Given the description of an element on the screen output the (x, y) to click on. 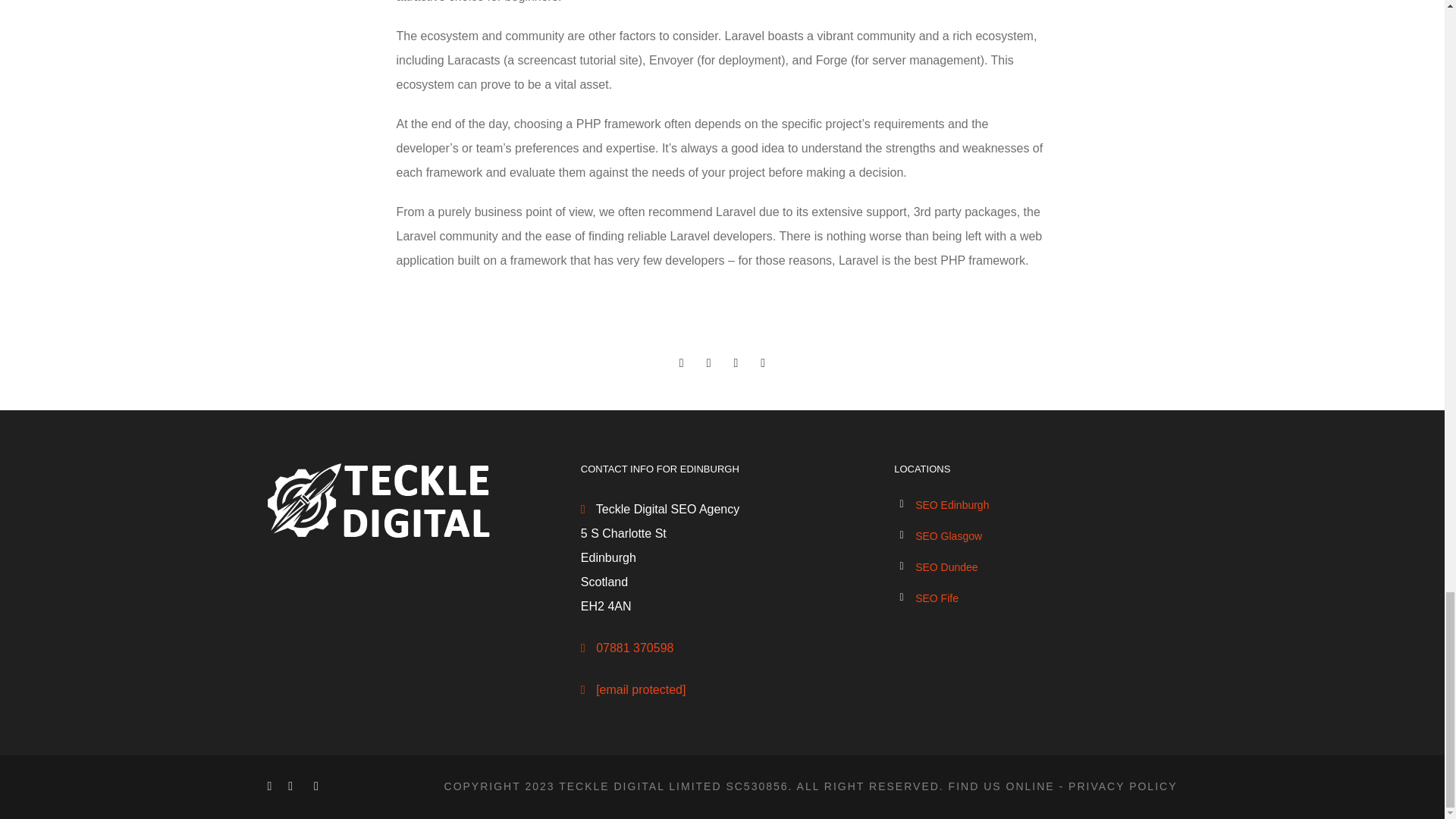
07881 370598 (633, 647)
SEO Edinburgh (951, 504)
SEO Glasgow (948, 535)
